Given the description of an element on the screen output the (x, y) to click on. 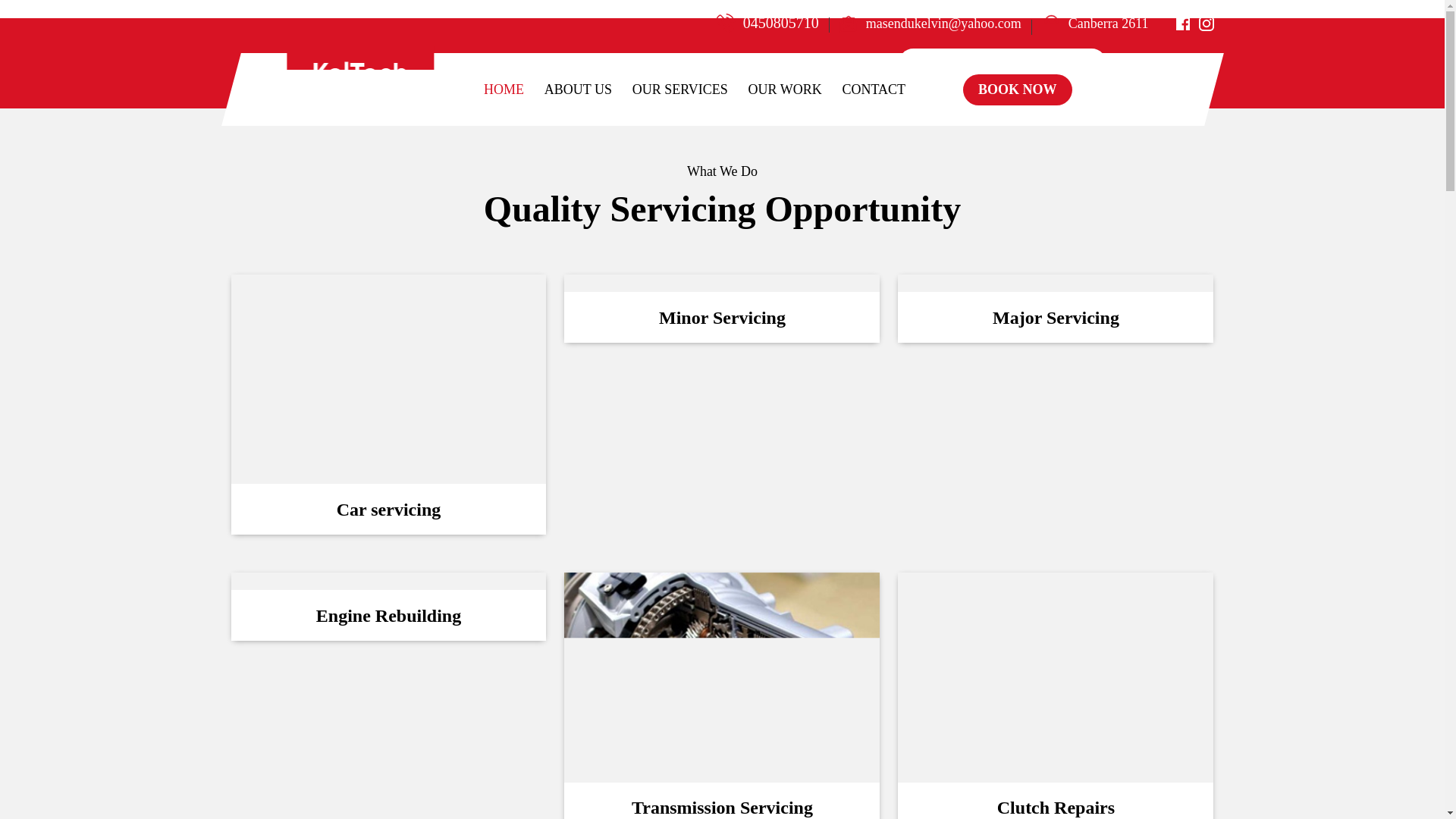
Car servicing (388, 404)
MAKE AN APPOINTMENT (1001, 62)
Minor Servicing (721, 308)
CONTACT (873, 89)
OUR SERVICES (679, 89)
BOOK NOW (1016, 89)
Engine Rebuilding (388, 606)
0450805710 (780, 22)
HOME (507, 89)
Transmission Servicing (721, 695)
Major Servicing (1055, 308)
Clutch Repairs (1055, 695)
ABOUT US (577, 89)
OUR WORK (783, 89)
